Given the description of an element on the screen output the (x, y) to click on. 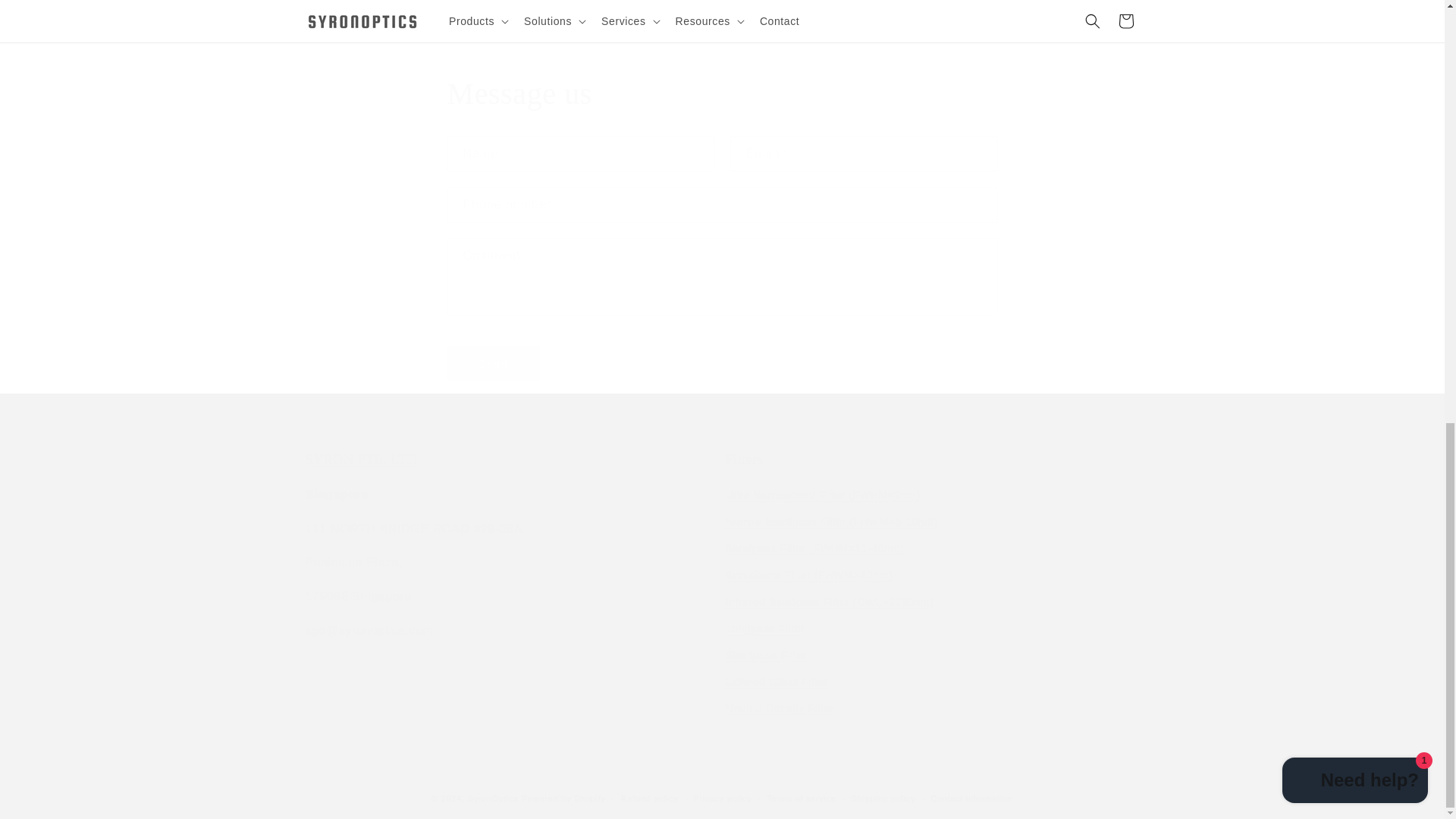
Message us (721, 93)
